Given the description of an element on the screen output the (x, y) to click on. 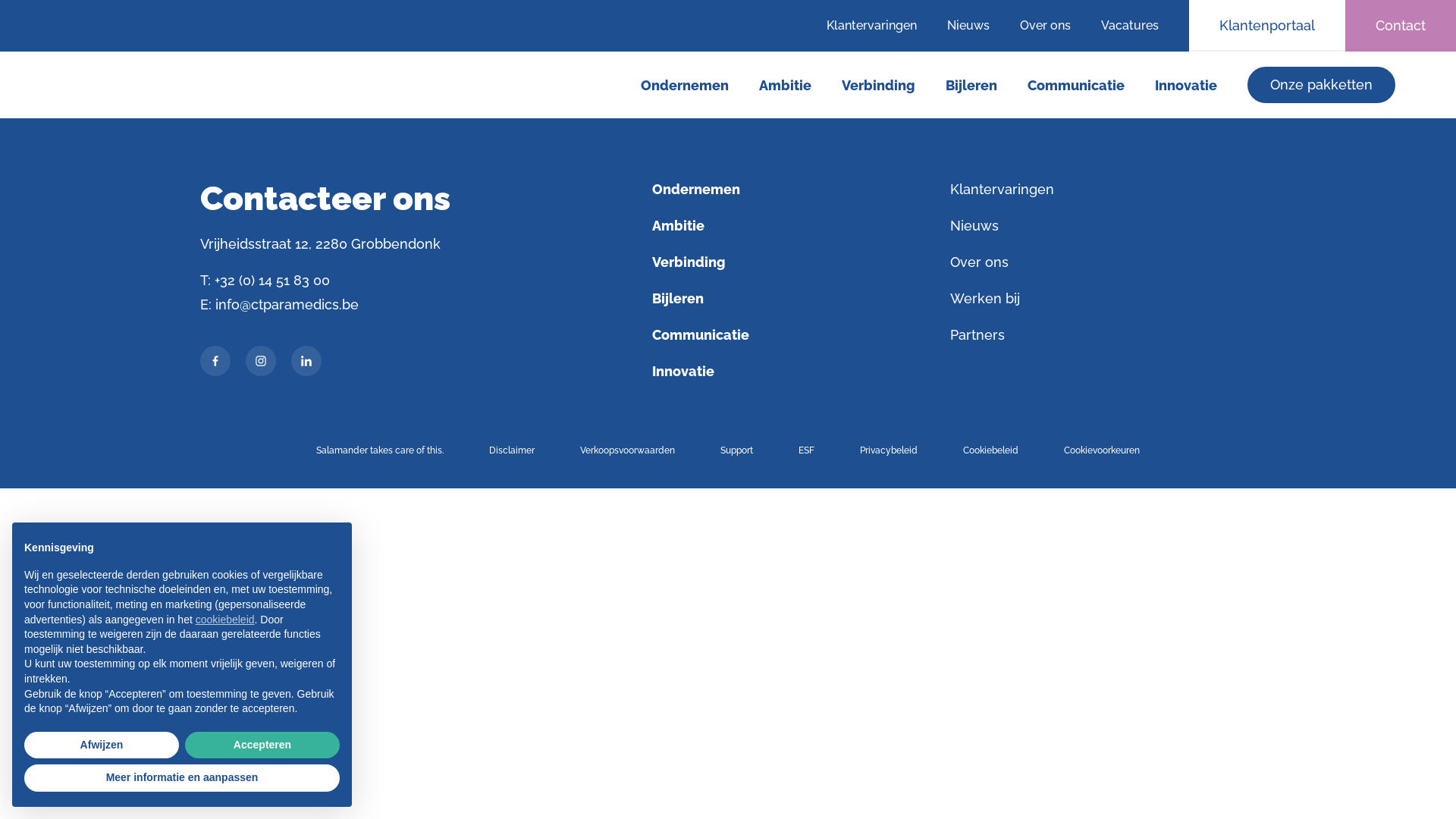
T: +32 (0) 14 51 83 00 Element type: text (264, 280)
Verbinding Element type: text (878, 86)
Communicatie Element type: text (700, 334)
ESF Element type: text (806, 450)
Cookievoorkeuren Element type: text (1101, 450)
Verbinding Element type: text (688, 262)
Nieuws Element type: text (974, 225)
Ambitie Element type: text (785, 86)
Klantervaringen Element type: text (878, 25)
Innovatie Element type: text (1185, 86)
Partners Element type: text (977, 334)
Ambitie Element type: text (678, 225)
Innovatie Element type: text (683, 371)
Disclaimer Element type: text (511, 450)
Cookiebeleid Element type: text (990, 450)
Klantenportaal Element type: text (1267, 25)
Privacybeleid Element type: text (888, 450)
Verkoopsvoorwaarden Element type: text (627, 450)
Onze pakketten Element type: text (1321, 84)
Over ons Element type: text (1044, 25)
Support Element type: text (736, 450)
Ondernemen Element type: text (684, 86)
Nieuws Element type: text (967, 25)
Over ons Element type: text (979, 262)
Bijleren Element type: text (677, 298)
E: info@ctparamedics.be Element type: text (279, 304)
Communicatie Element type: text (1075, 86)
Vrijheidsstraat 12, 2280 Grobbendonk Element type: text (320, 243)
Salamander takes care of this. Element type: text (379, 450)
Ondernemen Element type: text (696, 189)
Klantervaringen Element type: text (1002, 189)
Werken bij Element type: text (984, 298)
cookiebeleid Element type: text (224, 619)
Bijleren Element type: text (971, 86)
Vacatures Element type: text (1137, 25)
Accepteren Element type: text (262, 745)
Meer informatie en aanpassen Element type: text (181, 777)
Afwijzen Element type: text (101, 745)
